Given the description of an element on the screen output the (x, y) to click on. 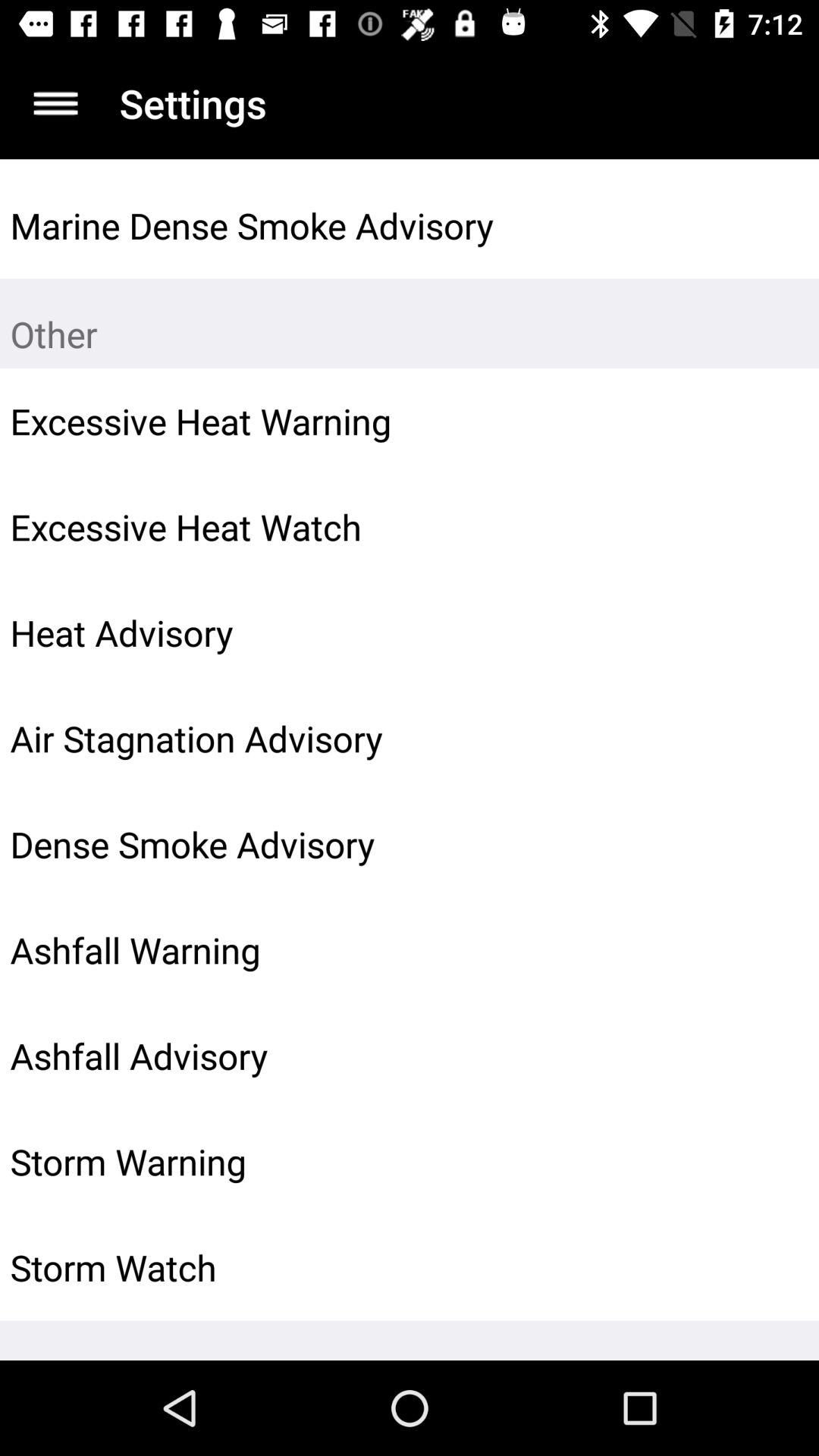
menu (55, 103)
